Given the description of an element on the screen output the (x, y) to click on. 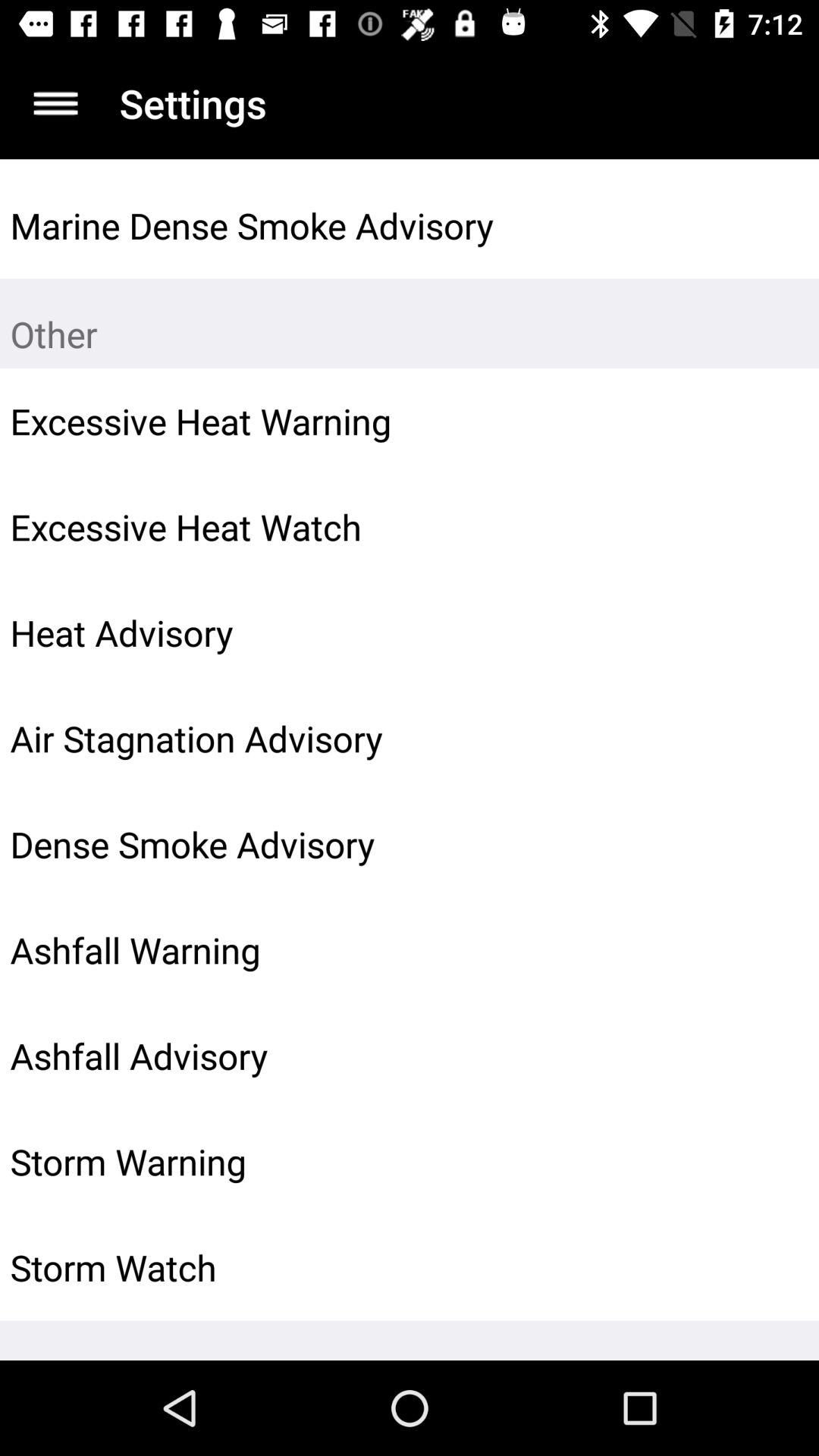
menu (55, 103)
